Given the description of an element on the screen output the (x, y) to click on. 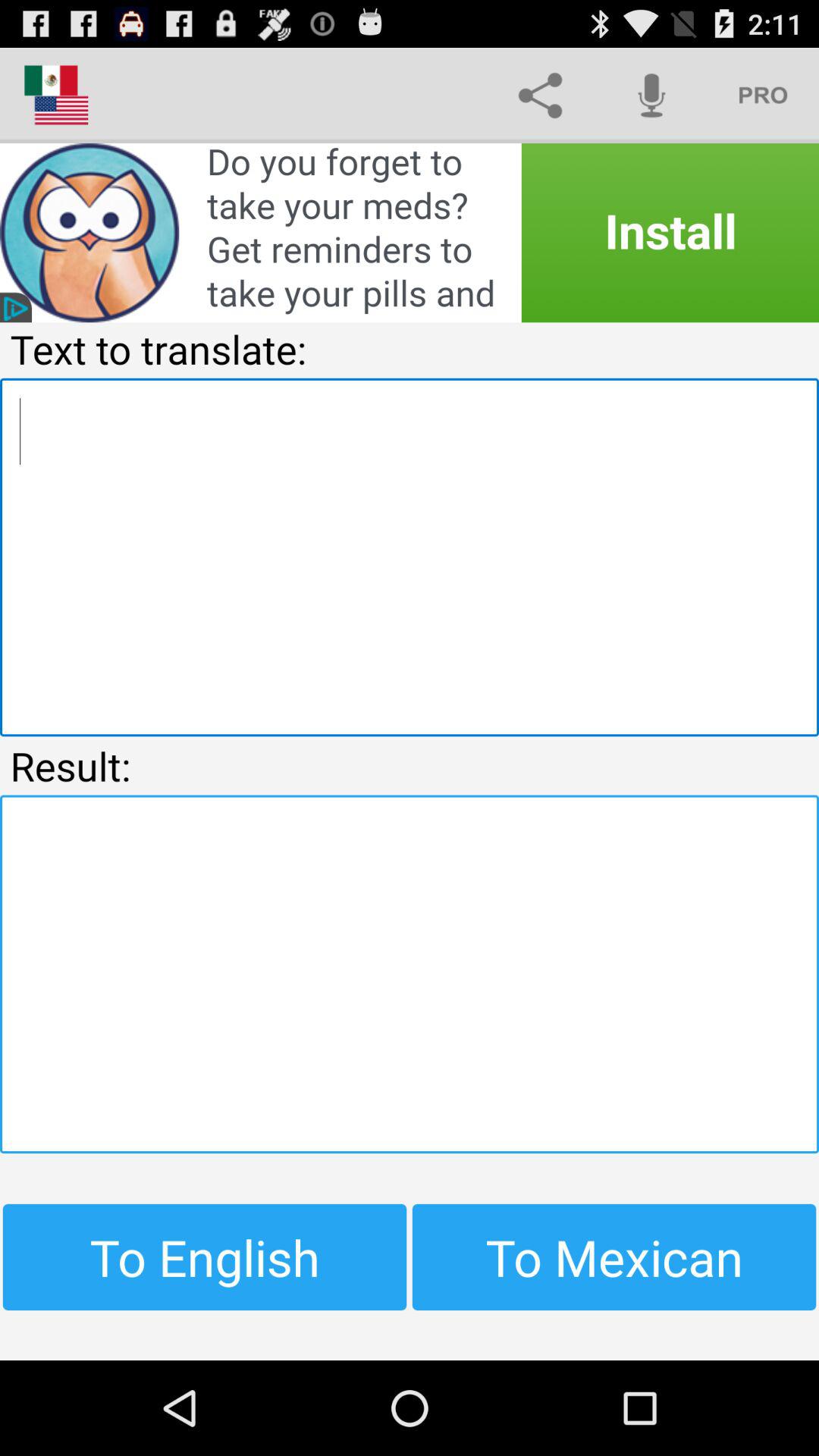
text you want to translate (409, 557)
